Given the description of an element on the screen output the (x, y) to click on. 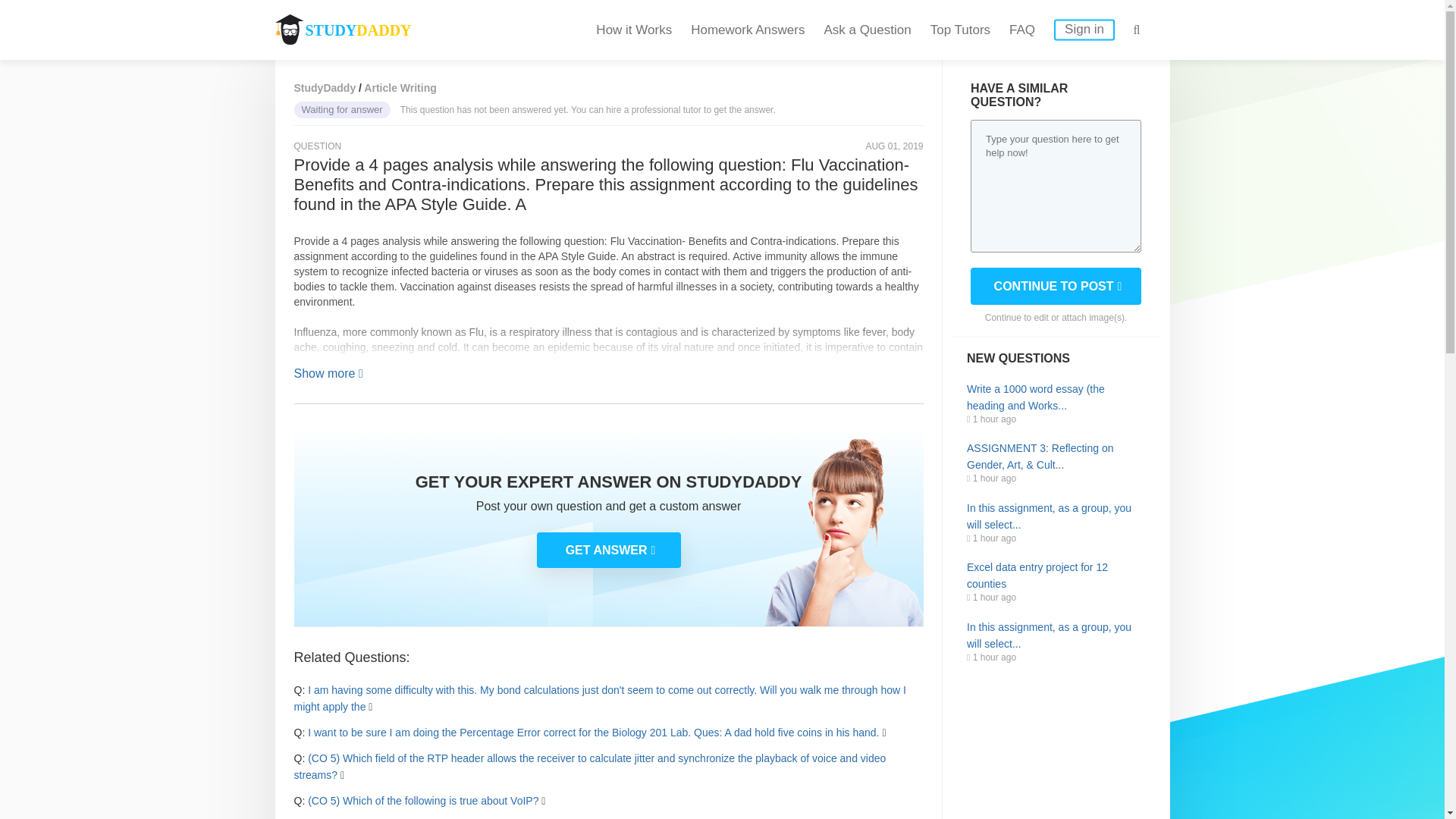
Article Writing (399, 87)
StudyDaddy (325, 87)
Top Tutors (960, 29)
Ask a Question (867, 29)
Sign in (1084, 29)
Excel data entry project for 12 counties (1055, 575)
StudyDaddy (325, 87)
FAQ (1022, 29)
How it Works (633, 29)
STUDYDADDY (342, 29)
In this assignment, as a group, you will select... (1055, 516)
Homework Answers (747, 29)
Show more (328, 373)
